Given the description of an element on the screen output the (x, y) to click on. 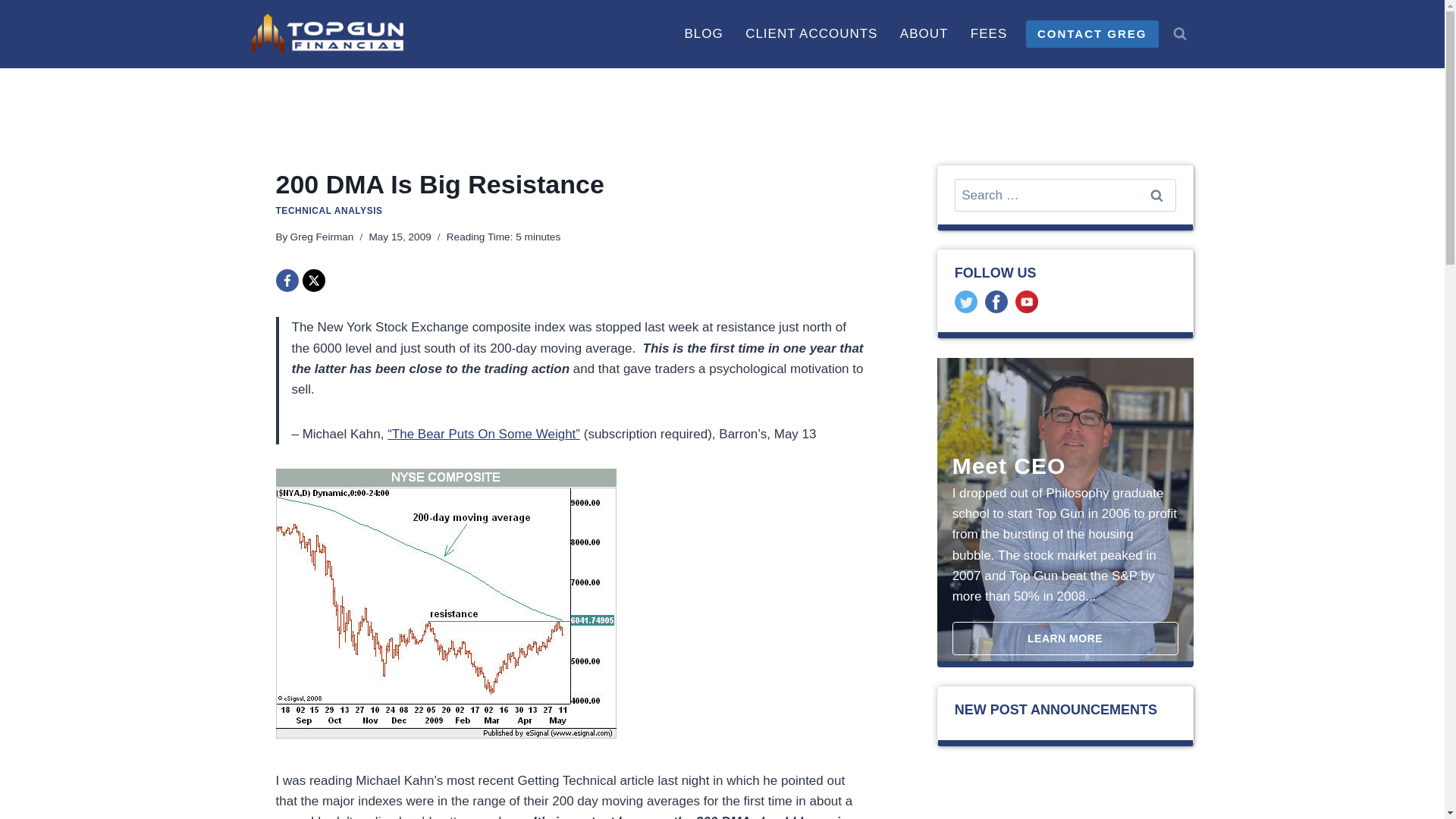
nyse-200-dma (445, 603)
FEES (988, 33)
Search (1155, 195)
CONTACT GREG (1092, 33)
Search (1155, 195)
TECHNICAL ANALYSIS (329, 210)
LEARN MORE (1064, 638)
BLOG (703, 33)
Search (1155, 195)
CLIENT ACCOUNTS (810, 33)
